Given the description of an element on the screen output the (x, y) to click on. 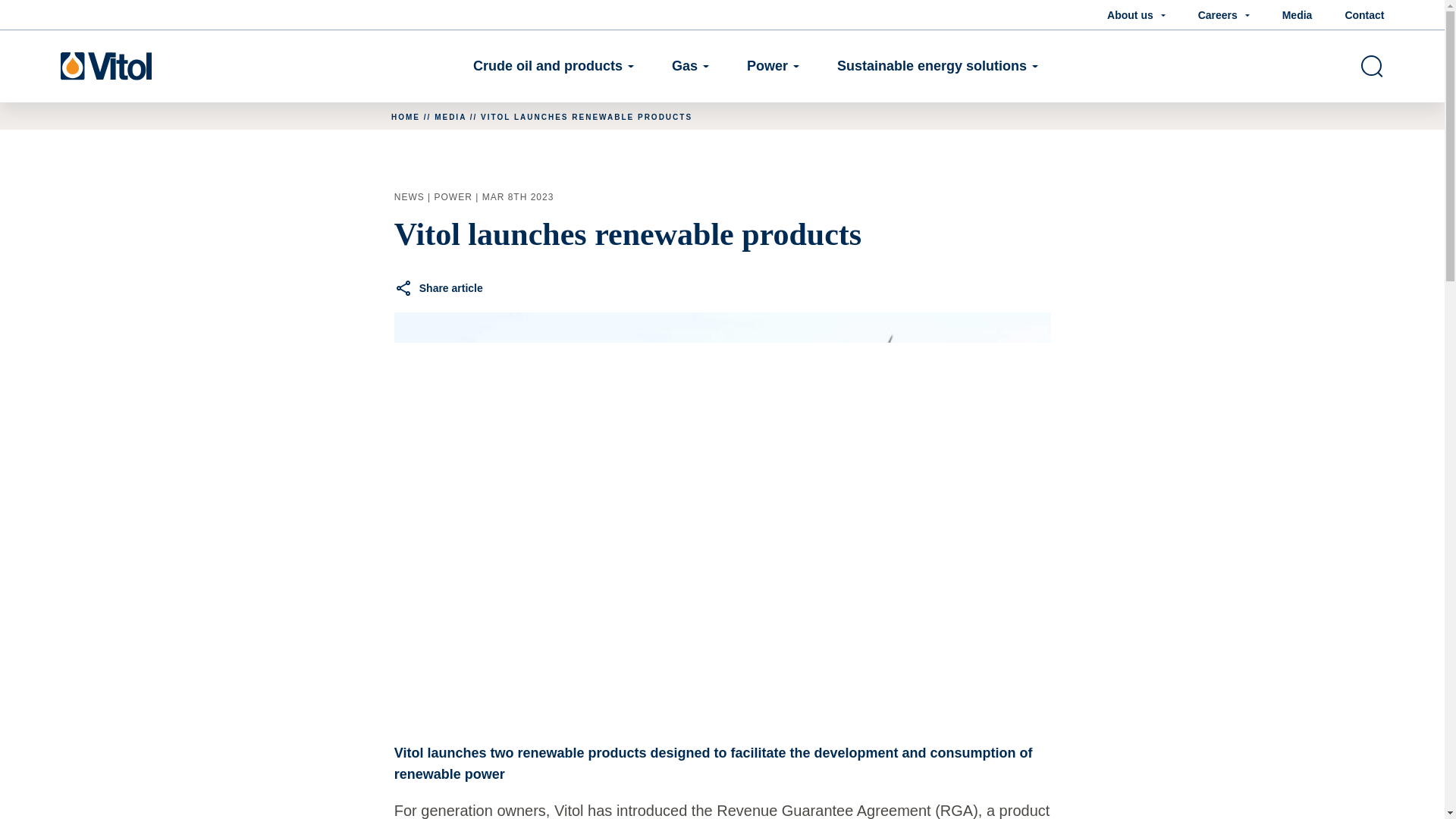
Careers (1223, 15)
Power (772, 66)
Contact (1363, 15)
Sustainable energy solutions (937, 66)
Media (1297, 15)
Crude oil and products (553, 66)
About us (1136, 15)
Gas (690, 66)
